Given the description of an element on the screen output the (x, y) to click on. 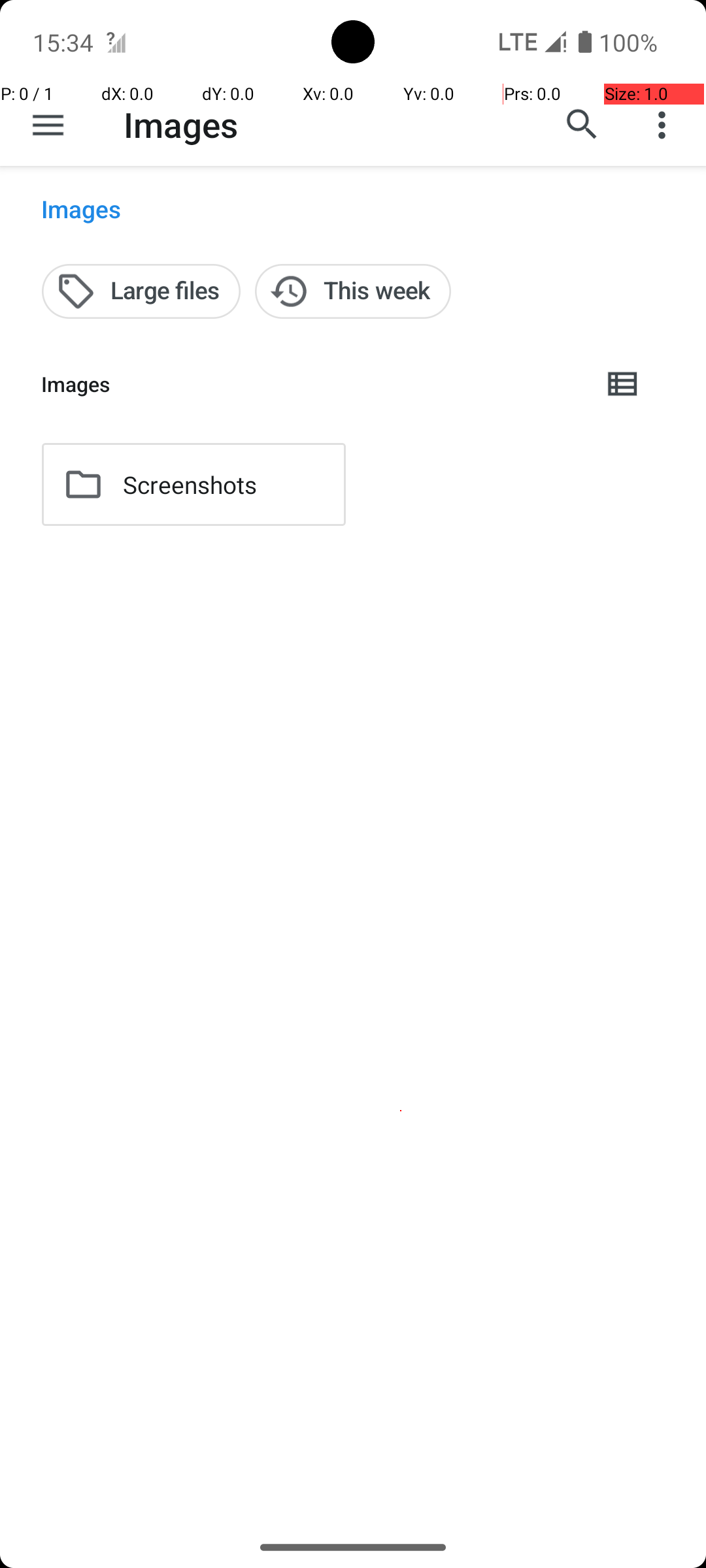
Screenshots Element type: android.widget.TextView (189, 484)
